Given the description of an element on the screen output the (x, y) to click on. 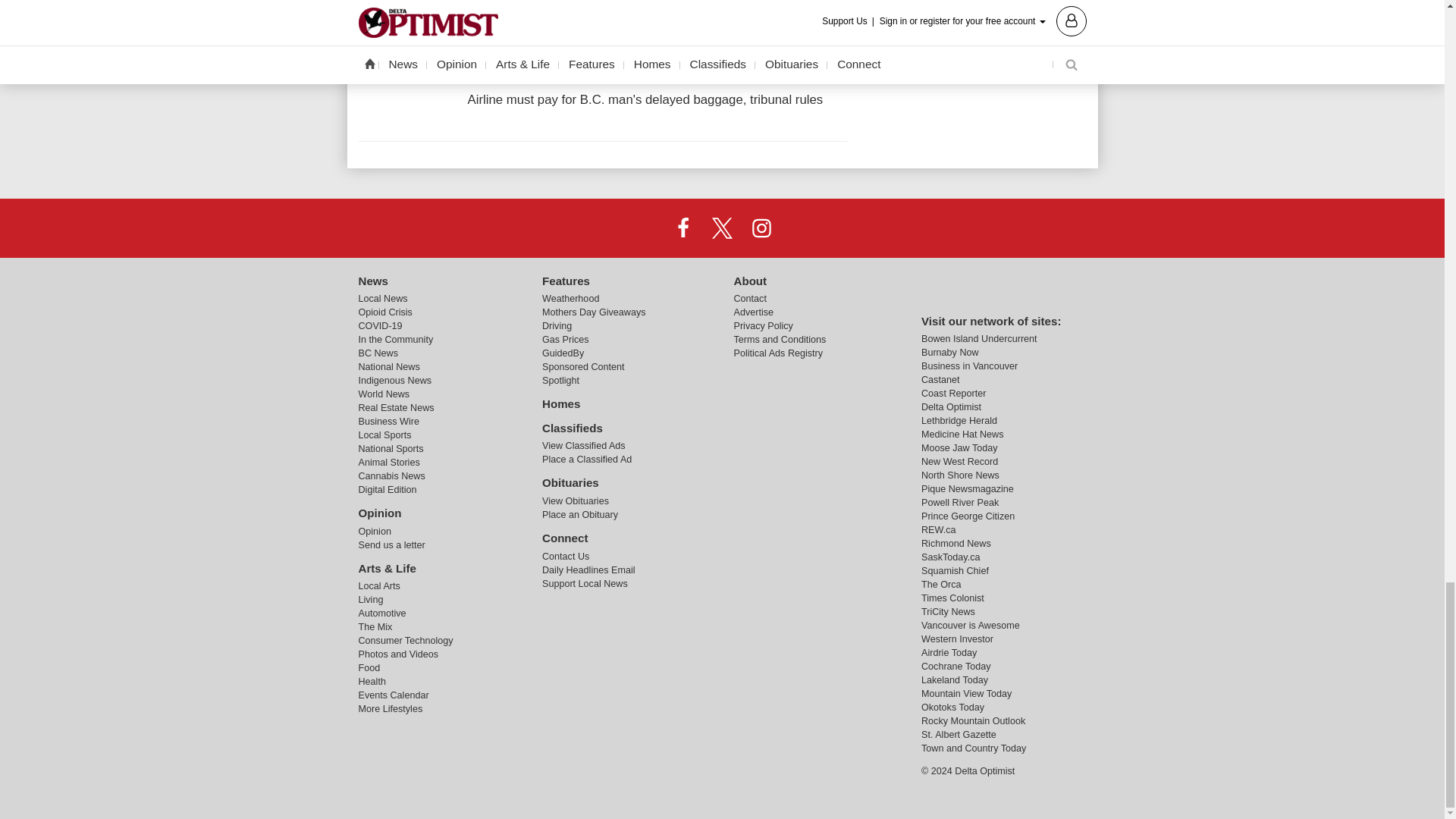
X (721, 226)
Facebook (683, 226)
Instagram (760, 226)
